Given the description of an element on the screen output the (x, y) to click on. 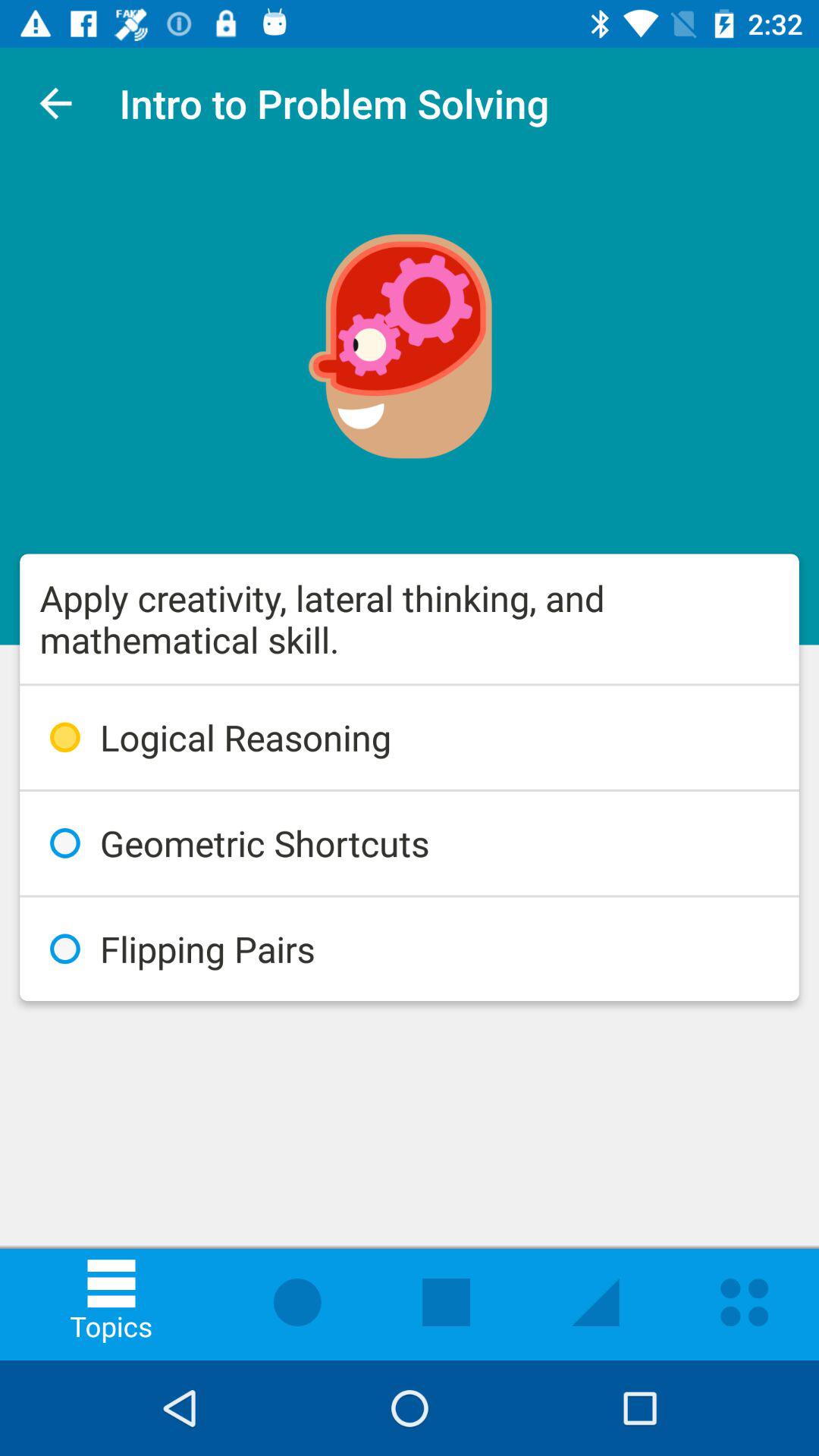
flip to flipping pairs icon (409, 949)
